Given the description of an element on the screen output the (x, y) to click on. 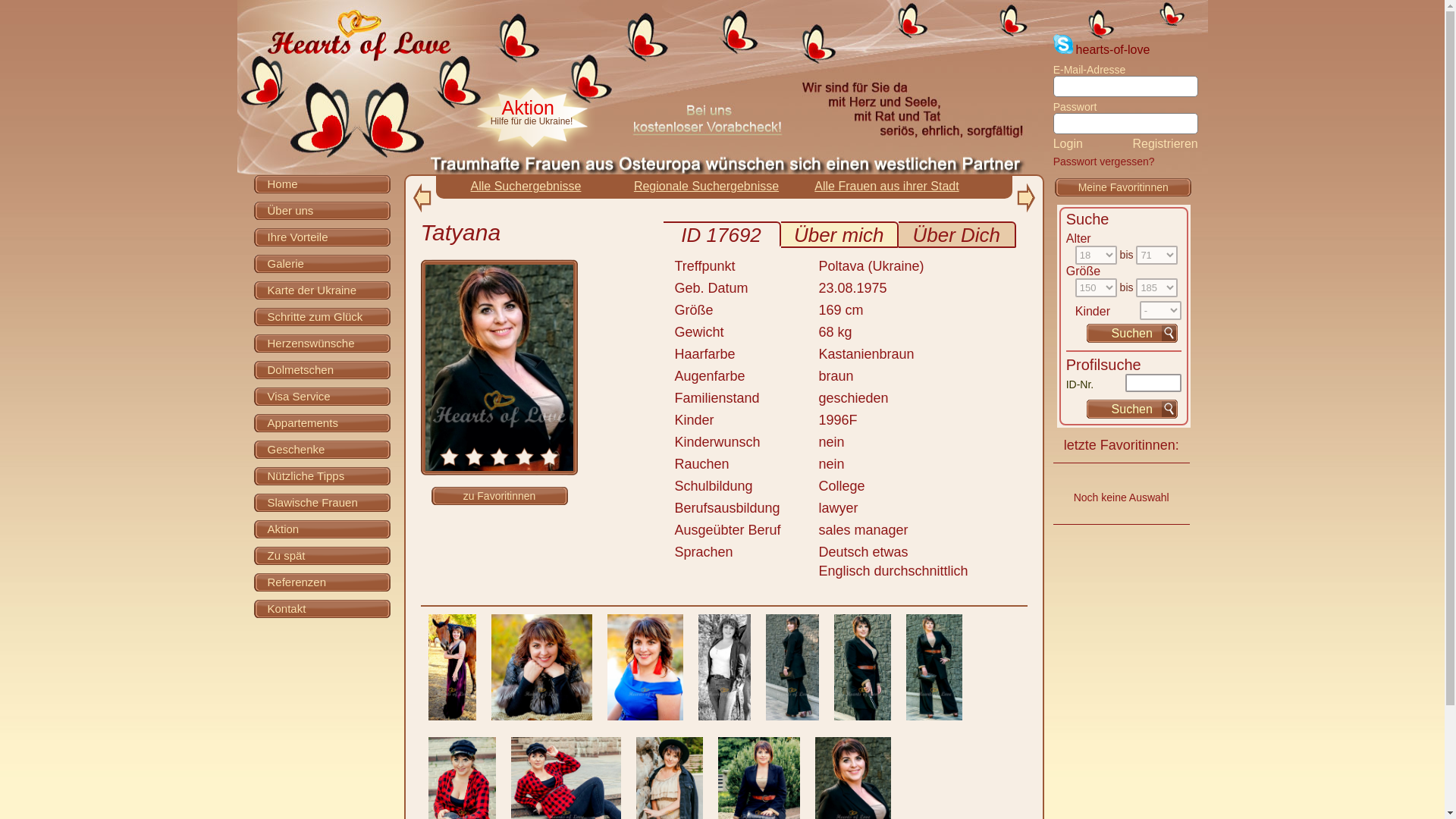
Geschenke (321, 448)
Galerie (321, 262)
Aktion (321, 528)
Referenzen (321, 581)
hearts-of-love (1112, 49)
Suchen (1131, 408)
Visa Service (321, 395)
zu Favoritinnen (499, 495)
Slawische Frauen (321, 502)
Alle Frauen aus ihrer Stadt (885, 185)
Regionale Suchergebnisse (705, 185)
Meine Favoritinnen (1123, 186)
Appartements (321, 422)
Login (1067, 143)
